Given the description of an element on the screen output the (x, y) to click on. 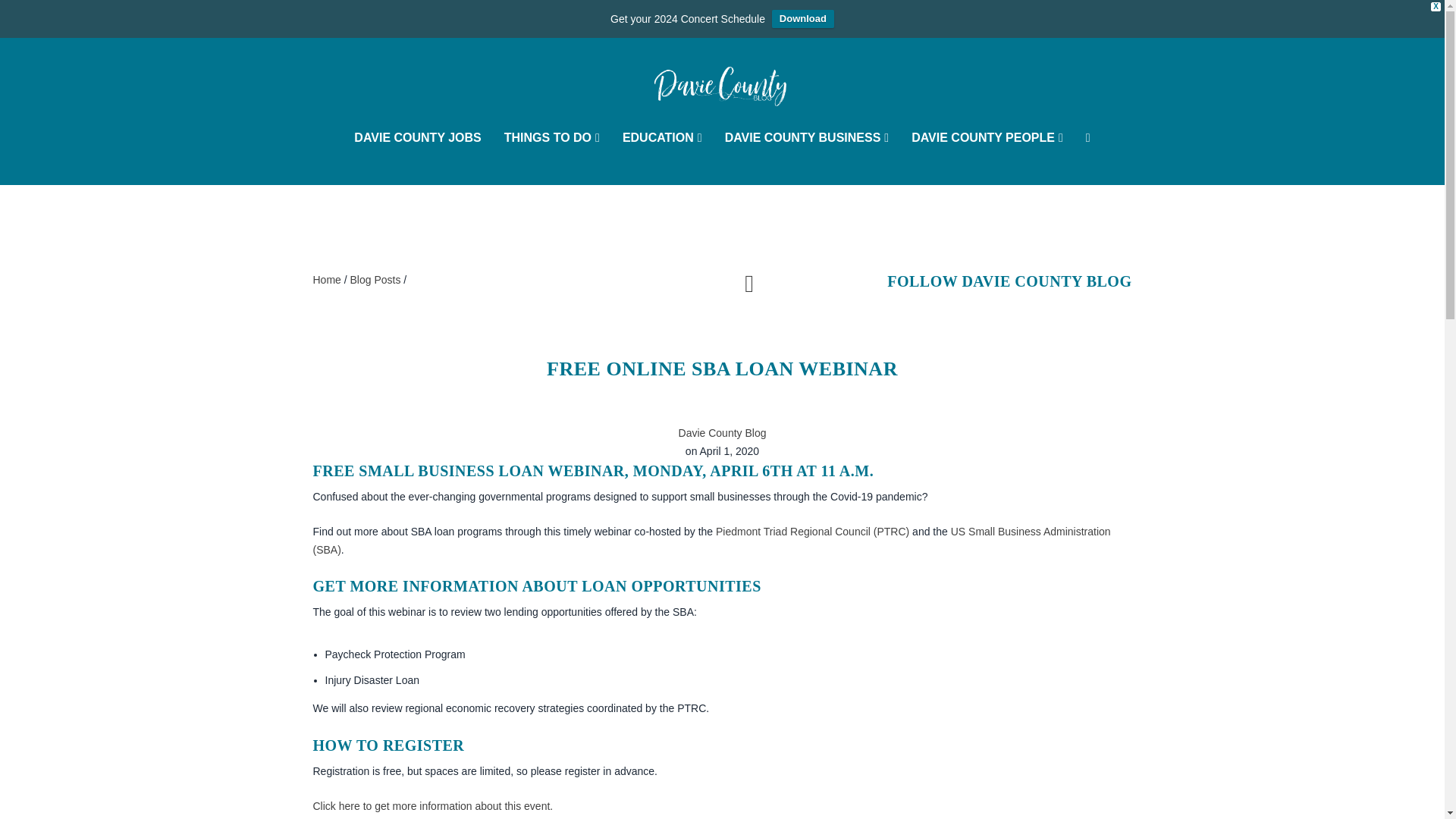
Blog Posts (375, 279)
DAVIE COUNTY BUSINESS (807, 158)
FOLLOW DAVIE COUNTY BLOG (1008, 280)
DAVIE COUNTY PEOPLE (986, 158)
Davie County Blog (722, 432)
Download (802, 18)
DAVIE COUNTY JOBS (416, 158)
THINGS TO DO (551, 158)
Home (326, 279)
EDUCATION (662, 158)
